Given the description of an element on the screen output the (x, y) to click on. 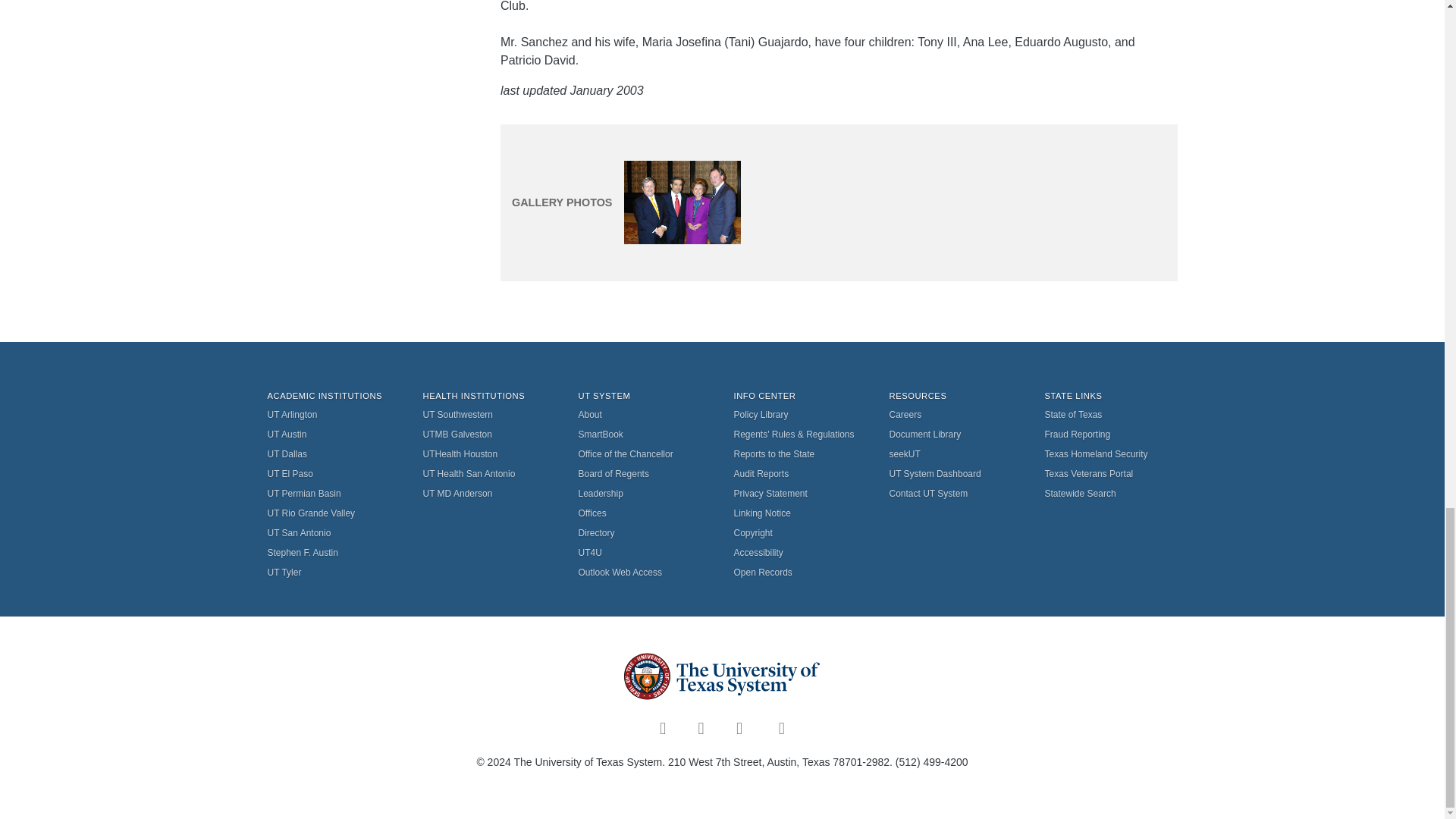
UT Health San Antonio (489, 474)
UT San Antonio (332, 532)
UT MD Anderson (489, 493)
UT Rio Grande Valley (332, 513)
UT El Paso (332, 474)
About (644, 414)
UT Southwestern (489, 414)
UTHealth Houston (489, 454)
UT Medical Branch at Galveston (489, 434)
UTMB Galveston (489, 434)
Stephen F. Austin (332, 552)
SmartBook (644, 434)
UT Tyler (332, 572)
UT Arlington (332, 414)
